Given the description of an element on the screen output the (x, y) to click on. 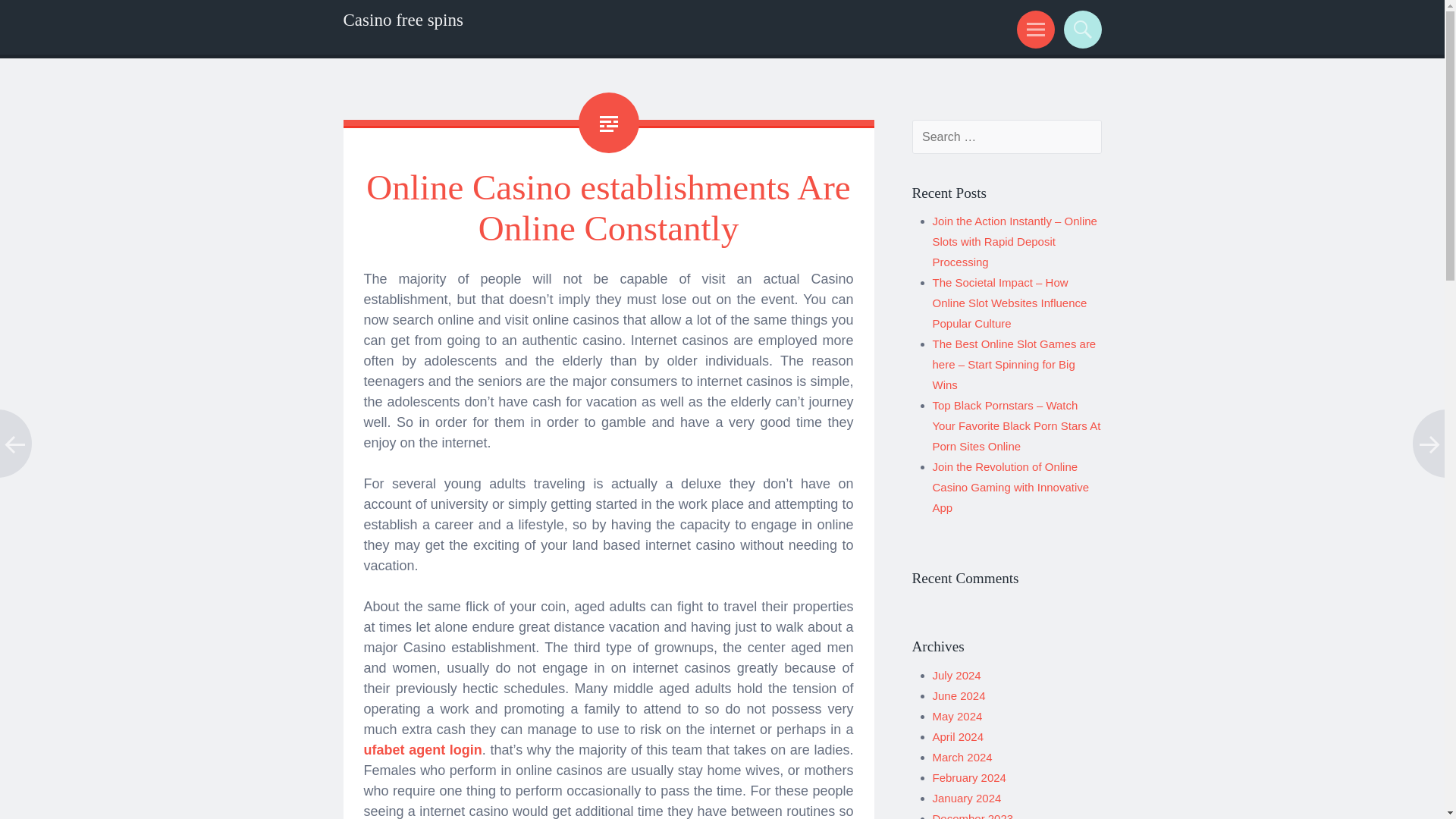
June 2024 (959, 695)
Search (1080, 29)
January 2024 (967, 797)
ufabet agent login (422, 749)
Casino free spins (402, 19)
May 2024 (957, 716)
December 2023 (973, 815)
July 2024 (957, 675)
Menu (1032, 29)
February 2024 (969, 777)
March 2024 (962, 757)
April 2024 (958, 736)
